Given the description of an element on the screen output the (x, y) to click on. 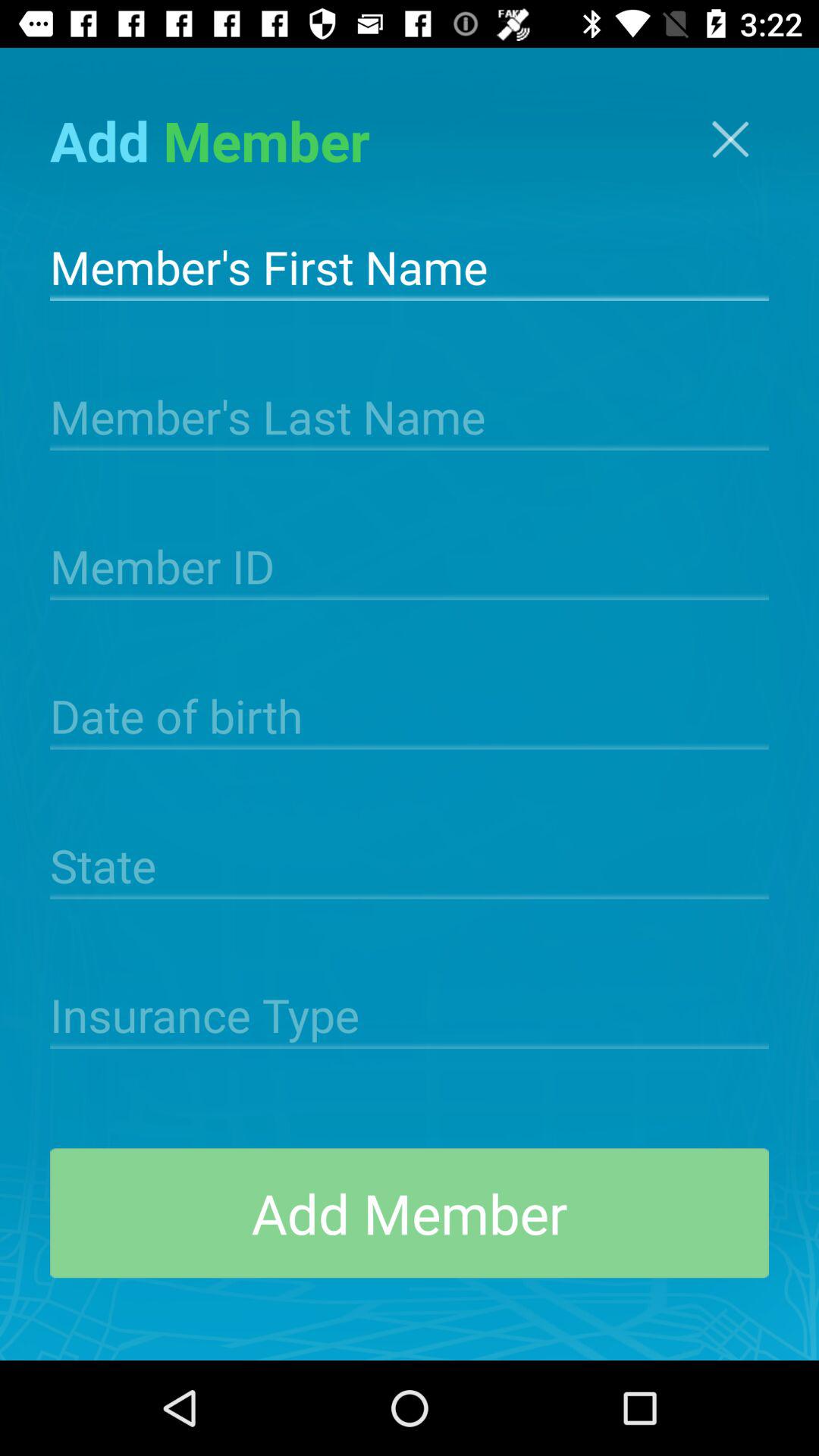
enter insurance info into field (409, 1013)
